Given the description of an element on the screen output the (x, y) to click on. 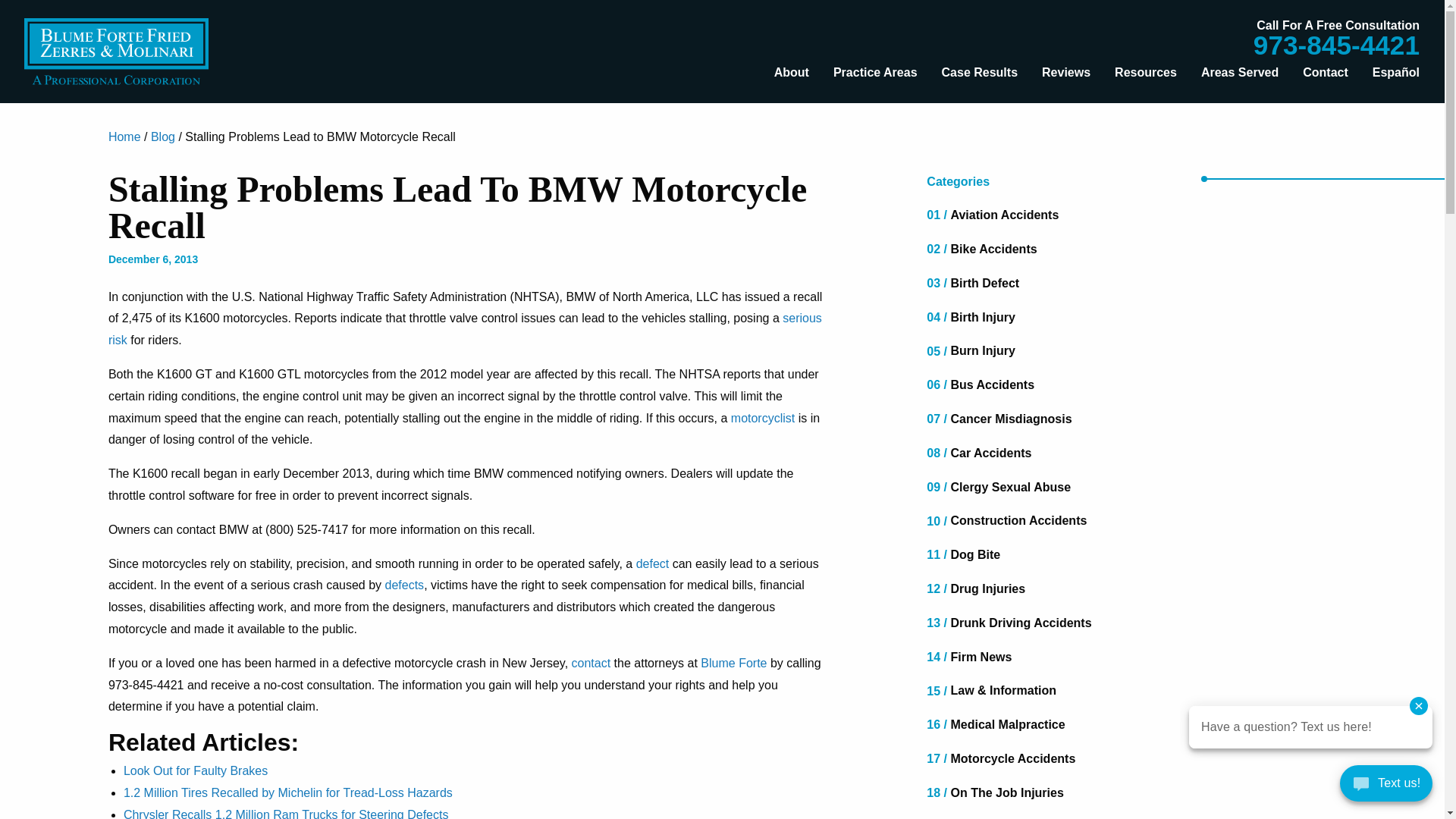
Text us! (1385, 787)
Practice Areas (875, 72)
About (791, 72)
